Given the description of an element on the screen output the (x, y) to click on. 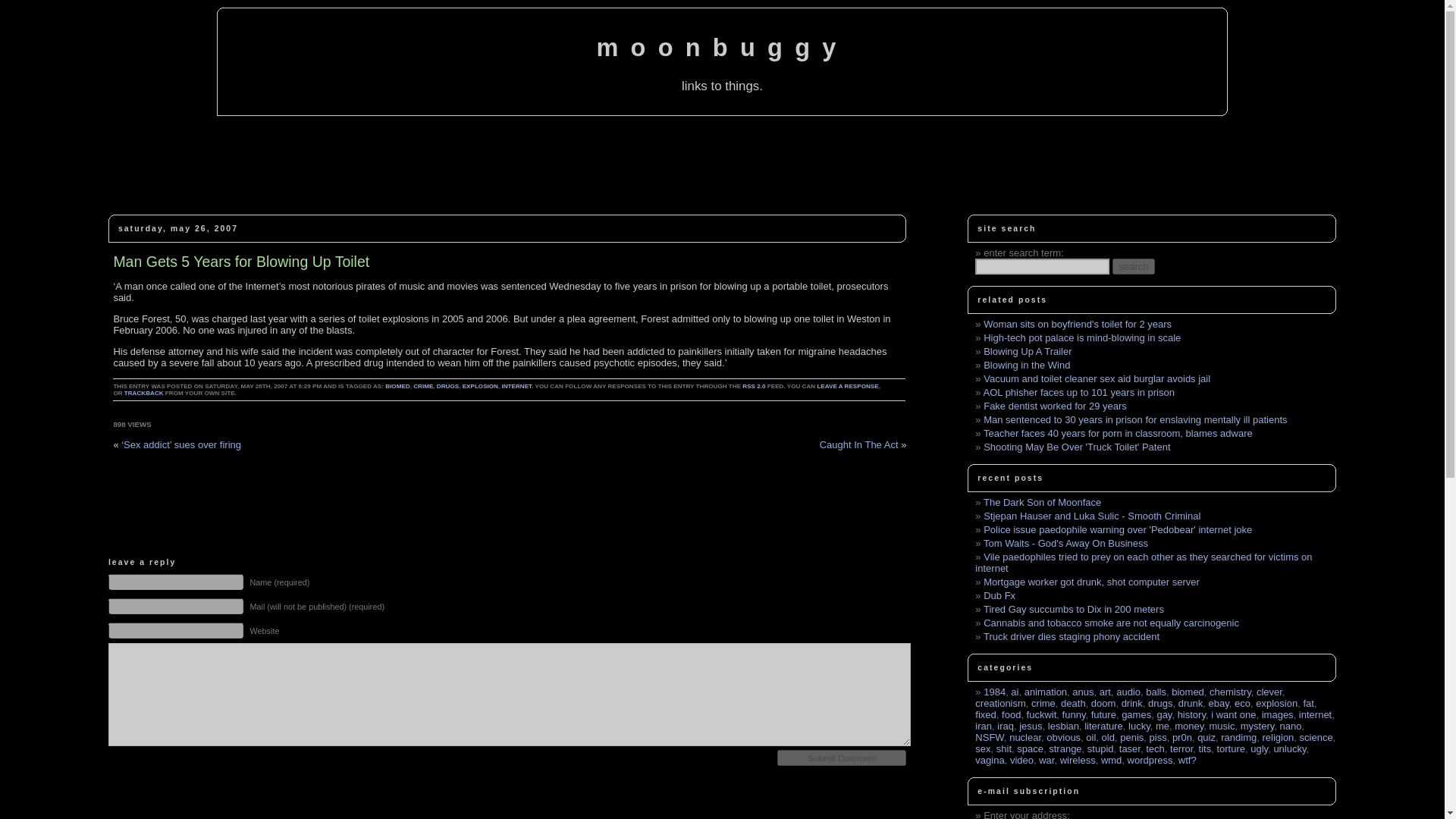
August 16, 2007 (1055, 405)
EXPLOSION (480, 386)
January 15, 2007 (1118, 432)
Vacuum and toilet cleaner sex aid burglar avoids jail (1096, 378)
May 13, 2006 (1082, 337)
Mortgage worker got drunk, shot computer server (1091, 582)
Advertisement (442, 784)
Cannabis and tobacco smoke are not equally carcinogenic (1111, 622)
Advertisement (721, 170)
DRUGS (447, 386)
Fake dentist worked for 29 years (1055, 405)
Shooting May Be Over 'Truck Toilet' Patent (1077, 446)
INTERNET (517, 386)
January 20, 2007 (1077, 392)
